Given the description of an element on the screen output the (x, y) to click on. 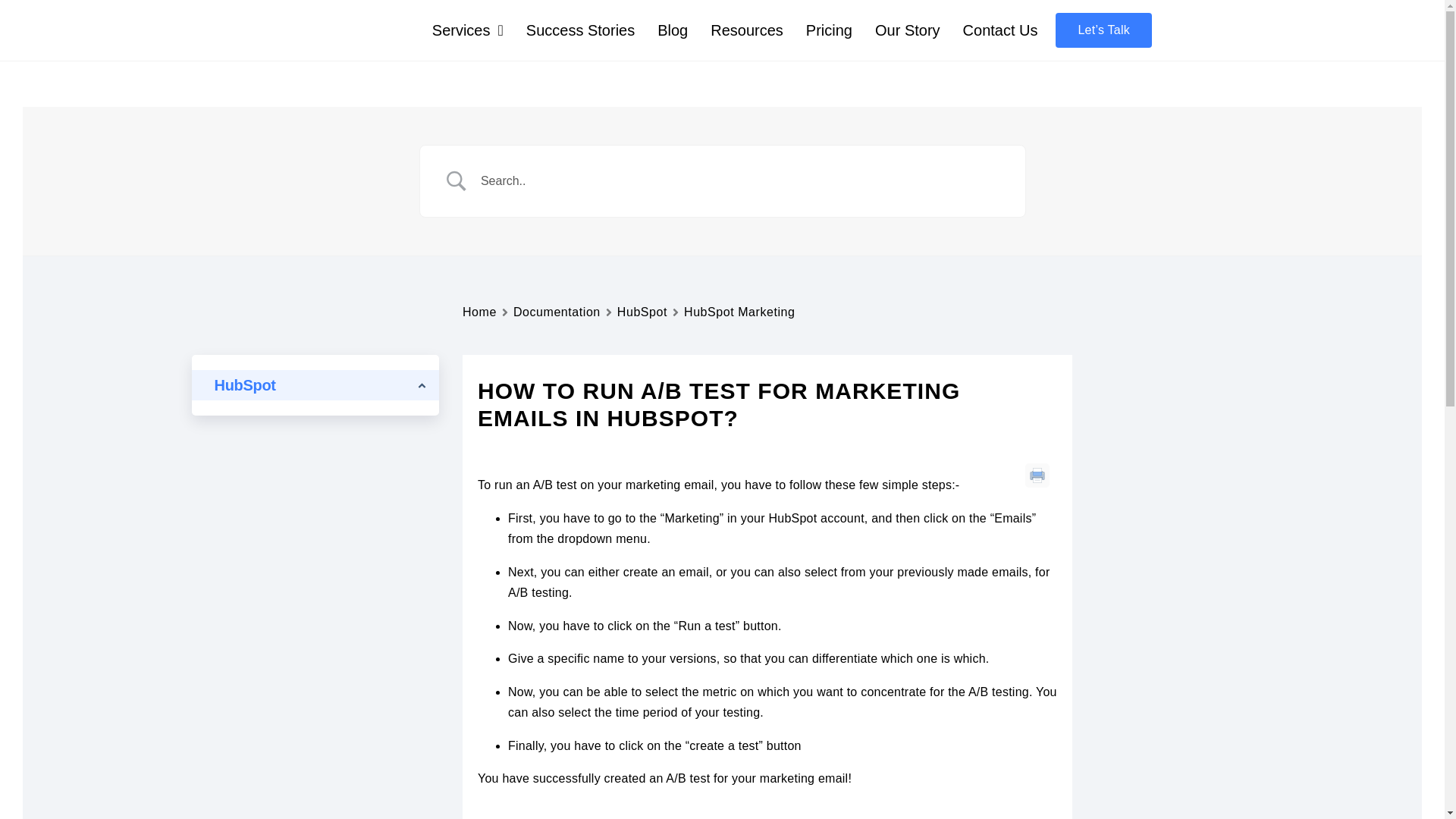
Contact Us (1000, 30)
Home (479, 312)
Documentation (556, 312)
HubSpot Marketing (739, 312)
Resources (746, 30)
Success Stories (579, 30)
Our Story (907, 30)
Services (467, 30)
HubSpot (641, 312)
